Given the description of an element on the screen output the (x, y) to click on. 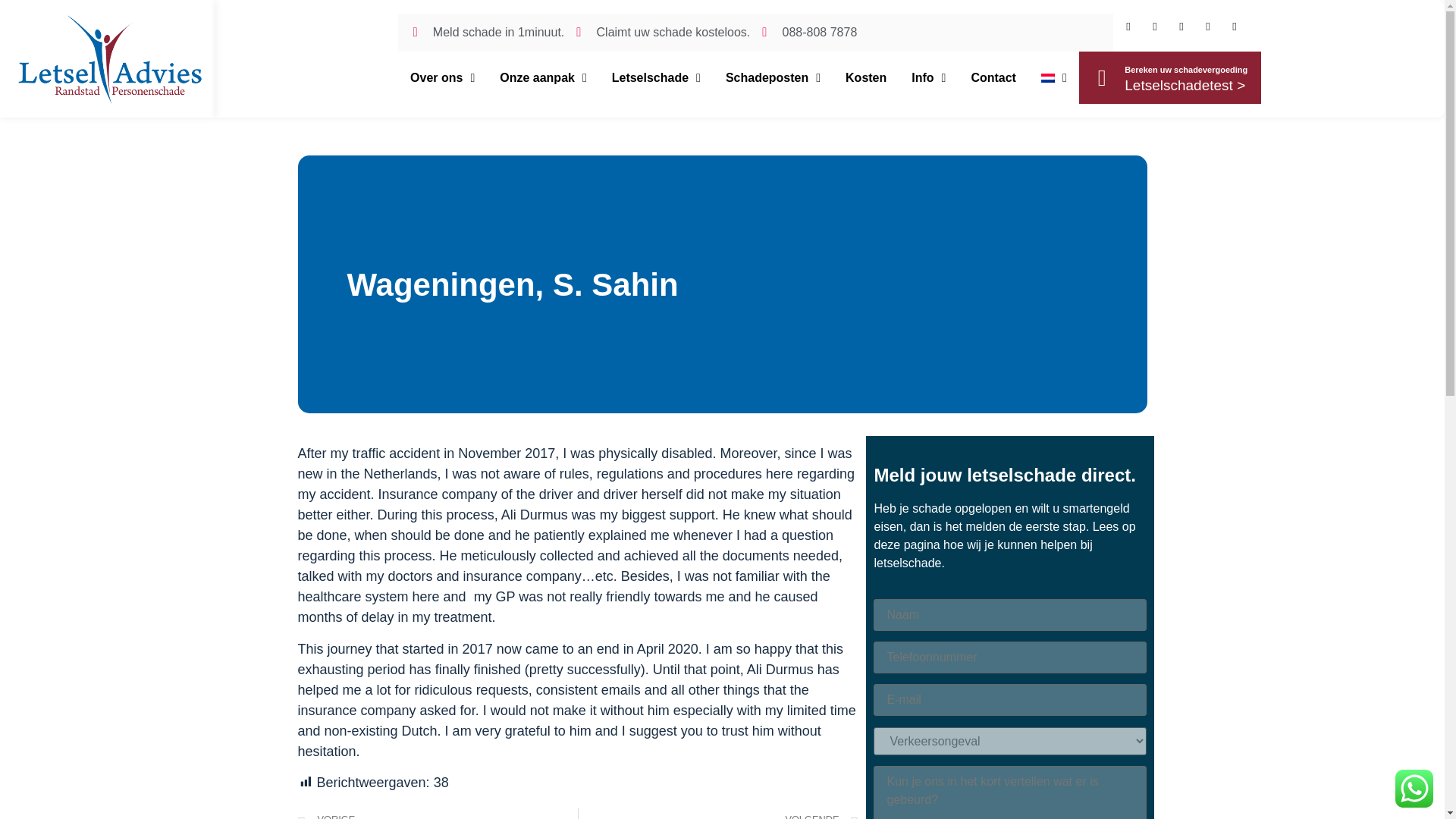
Meld schade in 1minuut. (488, 32)
Kosten (865, 77)
Schadeposten (772, 77)
Info (928, 77)
Claimt uw schade kosteloos. (662, 32)
Over ons (442, 77)
088-808 7878 (809, 32)
Letselschade (655, 77)
Onze aanpak (543, 77)
